Given the description of an element on the screen output the (x, y) to click on. 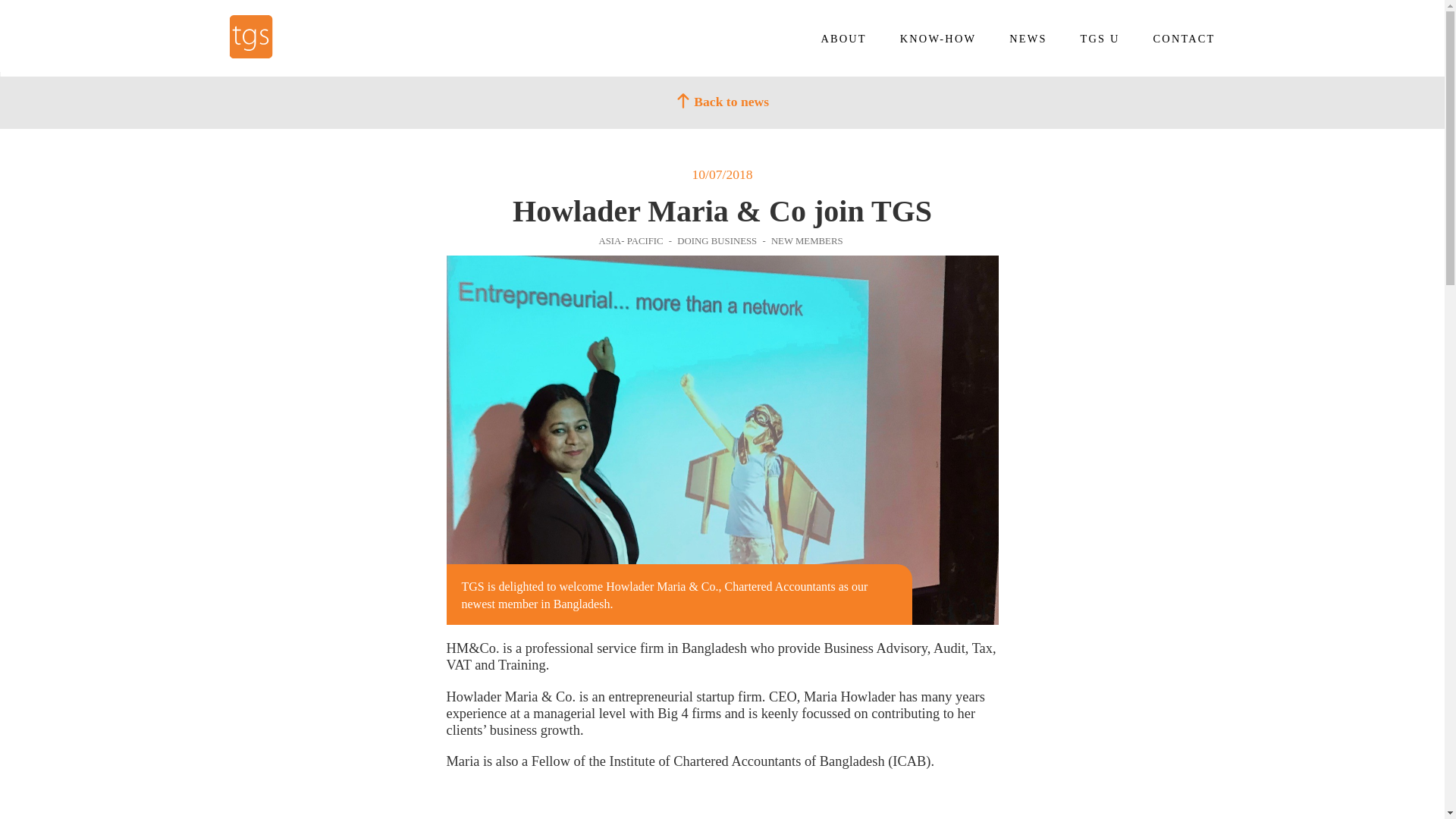
NEWS (1027, 38)
TGS U (1099, 38)
ASIA- PACIFIC (631, 240)
CONTACT (1184, 38)
NEW MEMBERS (802, 240)
ABOUT (843, 38)
DOING BUSINESS (714, 240)
KNOW-HOW (937, 38)
